Given the description of an element on the screen output the (x, y) to click on. 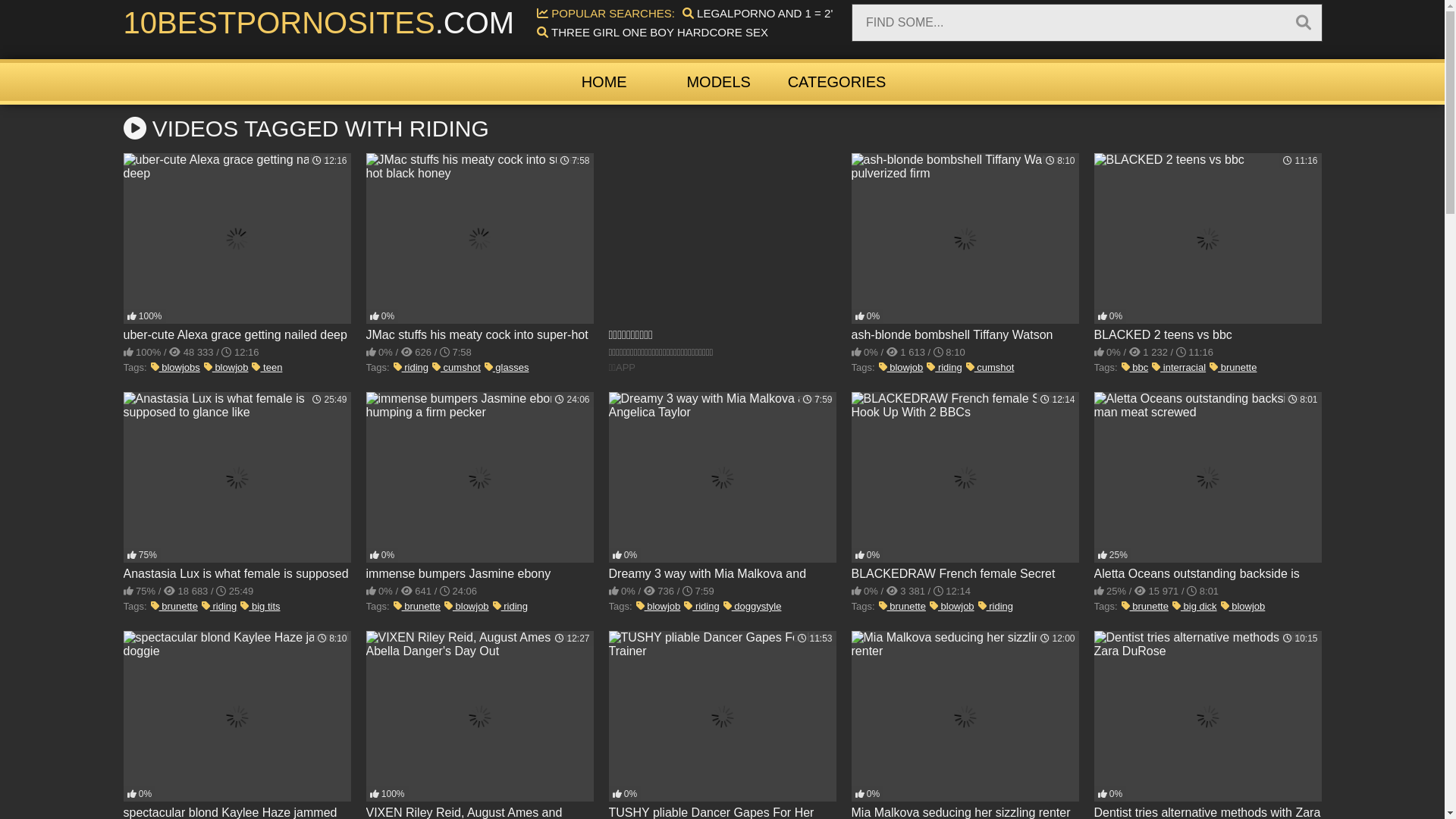
riding Element type: text (943, 367)
immense bumpers Jasmine ebony humping a firm pecker Element type: text (479, 486)
bbc Element type: text (1134, 367)
THREE GIRL ONE BOY HARDCORE SEX Element type: text (652, 31)
cumshot Element type: text (456, 367)
blowjob Element type: text (951, 605)
brunette Element type: text (1232, 367)
big tits Element type: text (259, 605)
Search Element type: hover (1303, 22)
blowjob Element type: text (900, 367)
riding Element type: text (701, 605)
doggystyle Element type: text (752, 605)
riding Element type: text (218, 605)
BLACKEDRAW French female Secret Hook Up With 2 BBCs Element type: text (964, 486)
LEGALPORNO AND 1 = 2' Element type: text (757, 12)
blowjob Element type: text (225, 367)
brunette Element type: text (416, 605)
uber-cute Alexa grace getting nailed deep Element type: text (236, 247)
JMac stuffs his meaty cock into super-hot black honey Element type: text (479, 247)
blowjob Element type: text (1242, 605)
cumshot Element type: text (990, 367)
brunette Element type: text (173, 605)
Anastasia Lux is what female is supposed to glance like Element type: text (236, 486)
riding Element type: text (509, 605)
CATEGORIES Element type: text (836, 81)
brunette Element type: text (1144, 605)
ash-blonde bombshell Tiffany Watson pulverized firm Element type: text (964, 247)
MODELS Element type: text (718, 81)
brunette Element type: text (901, 605)
teen Element type: text (266, 367)
riding Element type: text (410, 367)
HOME Element type: text (604, 81)
10BESTPORNOSITES.COM Element type: text (318, 22)
blowjobs Element type: text (175, 367)
riding Element type: text (995, 605)
blowjob Element type: text (658, 605)
interracial Element type: text (1178, 367)
Dreamy 3 way with Mia Malkova and Angelica Taylor Element type: text (721, 486)
glasses Element type: text (506, 367)
BLACKED 2 teens vs bbc Element type: text (1207, 247)
Aletta Oceans outstanding backside is man meat screwed Element type: text (1207, 486)
blowjob Element type: text (466, 605)
big dick Element type: text (1194, 605)
